Given the description of an element on the screen output the (x, y) to click on. 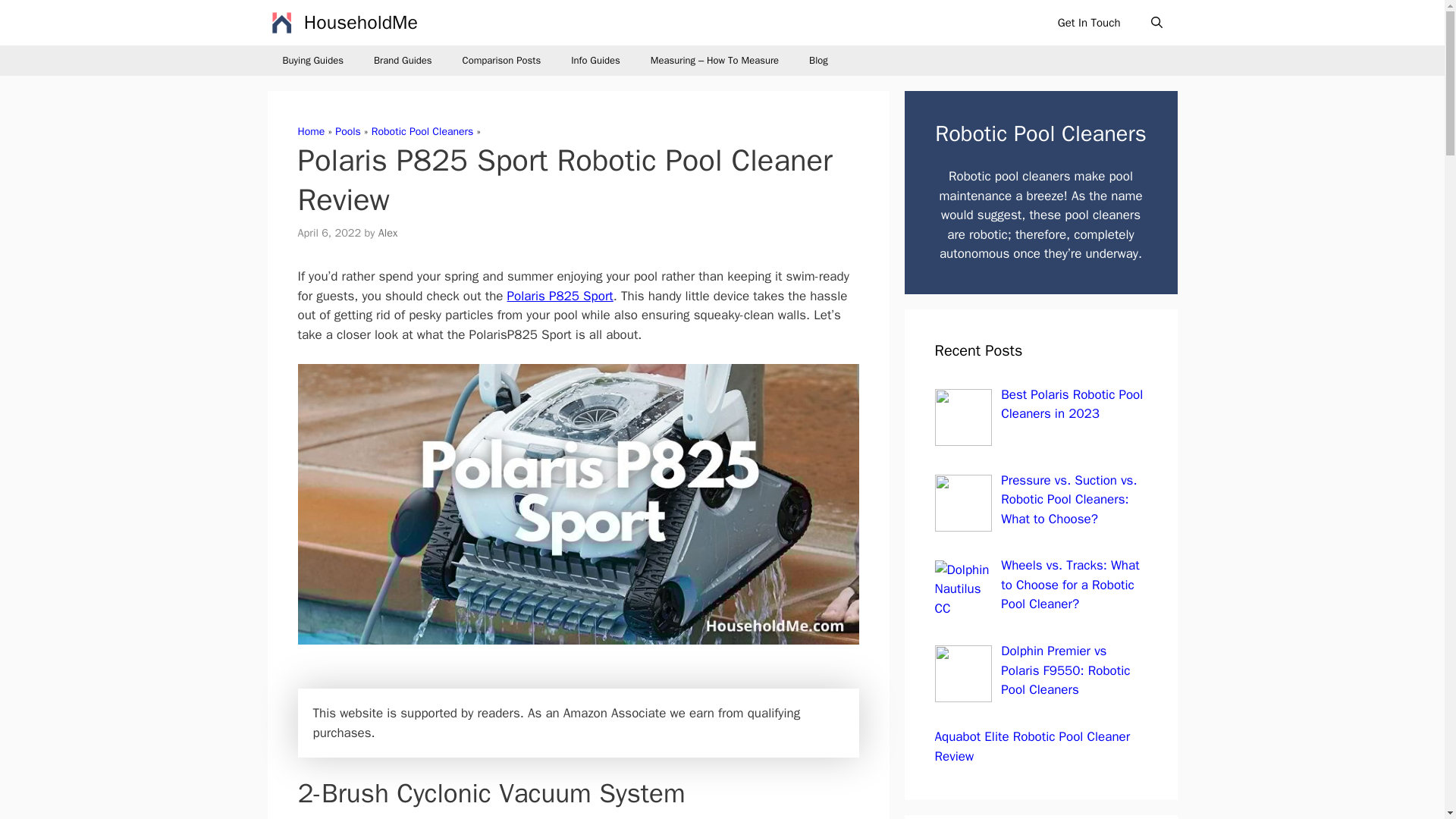
Buying Guides (312, 60)
Blog (818, 60)
Info Guides (595, 60)
Comparison Posts (501, 60)
Pools (347, 131)
Home (310, 131)
Alex (387, 232)
Get In Touch (1088, 22)
Robotic Pool Cleaners (422, 131)
Polaris P825 Sport (559, 295)
